Given the description of an element on the screen output the (x, y) to click on. 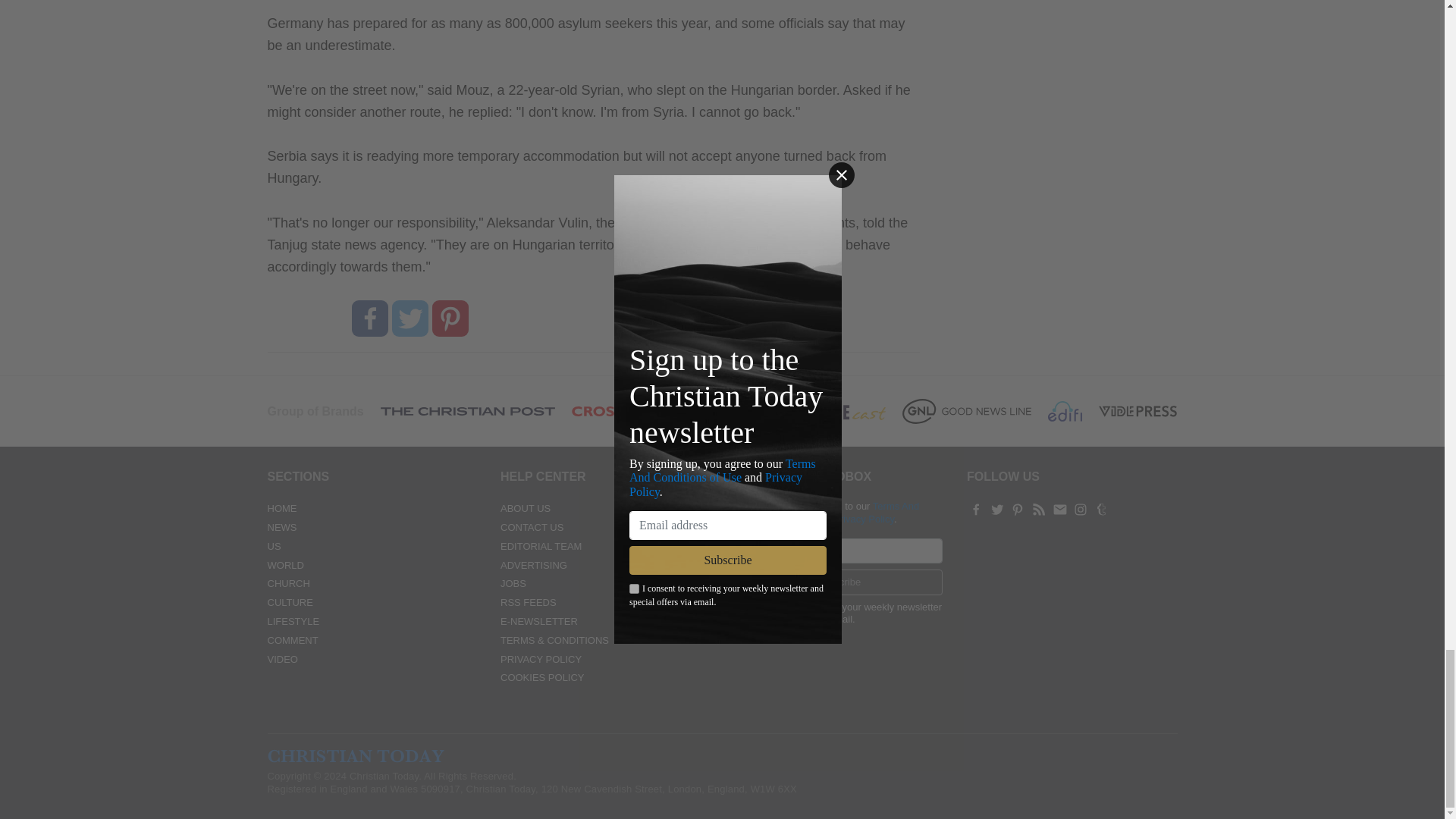
Subscribe (839, 582)
on (738, 607)
